Given the description of an element on the screen output the (x, y) to click on. 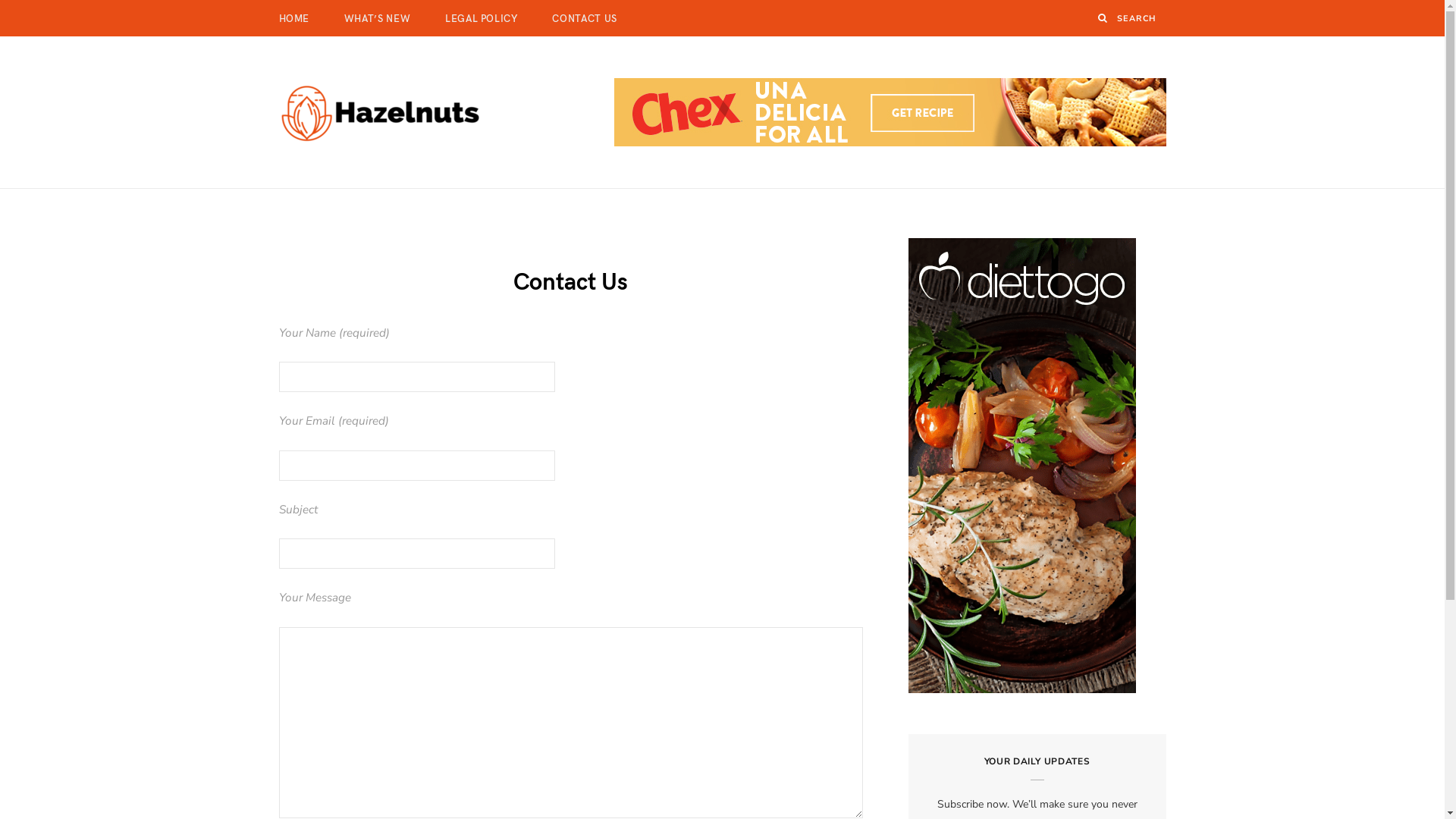
LEGAL POLICY Element type: text (481, 18)
Hazelnuts Element type: hover (382, 112)
CONTACT US Element type: text (584, 18)
HOME Element type: text (293, 18)
